Given the description of an element on the screen output the (x, y) to click on. 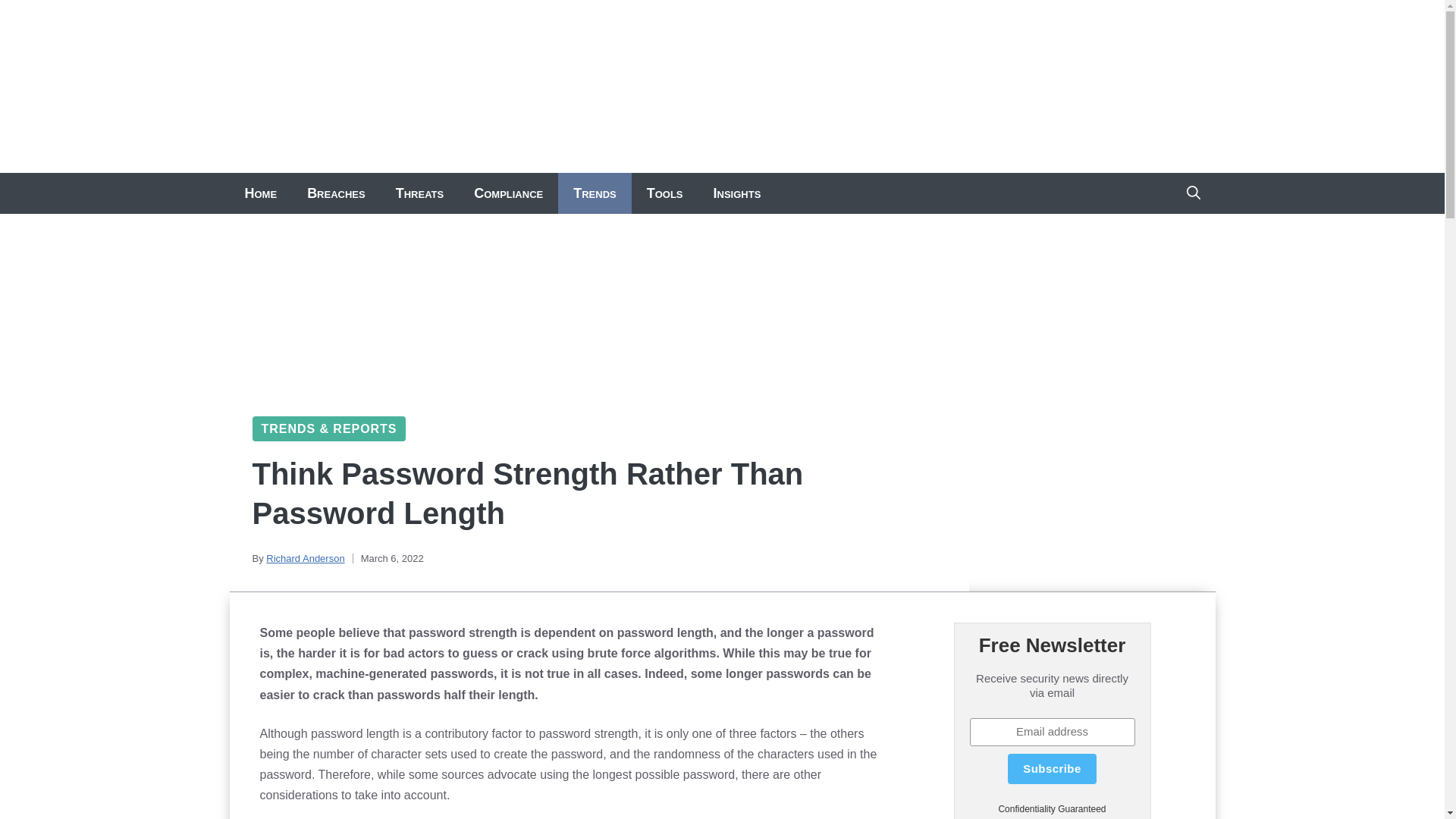
Trends (594, 192)
Subscribe (1051, 768)
Breaches (336, 192)
Richard Anderson (304, 558)
Compliance (507, 192)
Tools (664, 192)
Home (260, 192)
Insights (737, 192)
Subscribe (1051, 768)
Threats (419, 192)
